Given the description of an element on the screen output the (x, y) to click on. 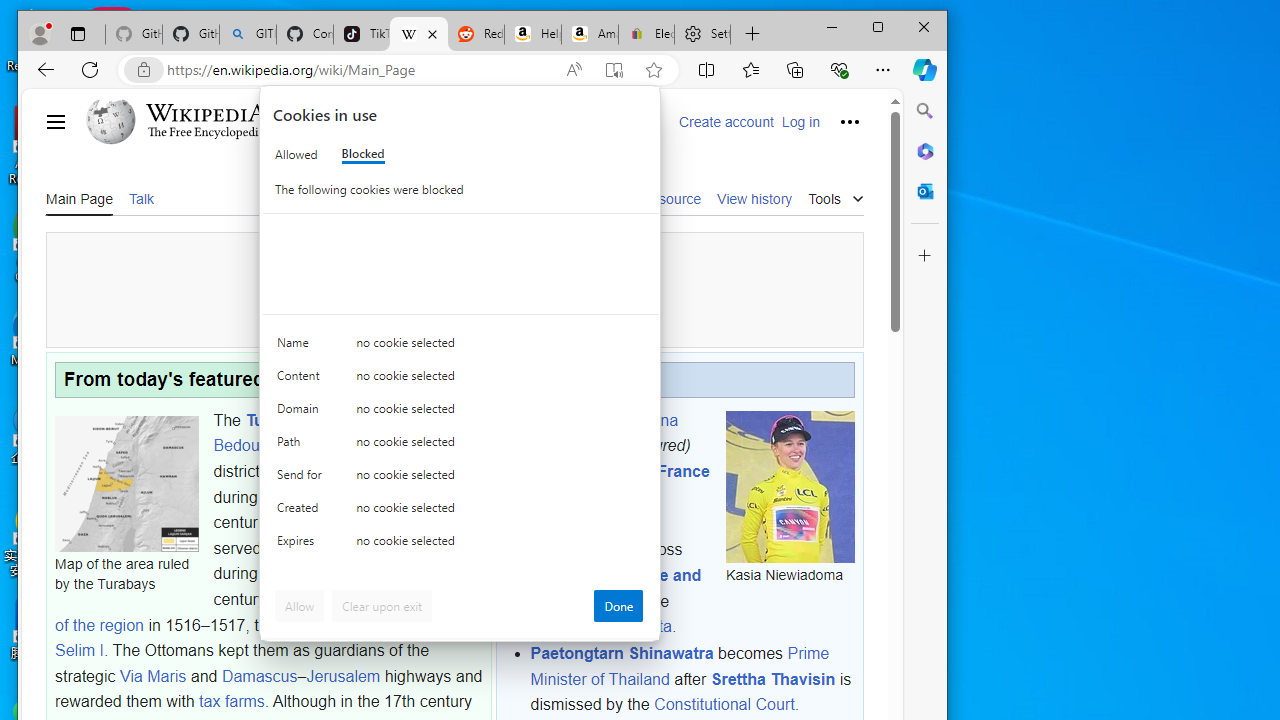
Class: c0153 c0157 (460, 545)
Created (302, 511)
Clear upon exit (381, 605)
Done (617, 605)
Path (302, 446)
no cookie selected (500, 544)
Allow (300, 605)
Blocked (362, 153)
Send for (302, 479)
Class: c0153 c0157 c0154 (460, 347)
Expires (302, 544)
Content (302, 380)
Allowed (296, 153)
Domain (302, 413)
Name (302, 346)
